Given the description of an element on the screen output the (x, y) to click on. 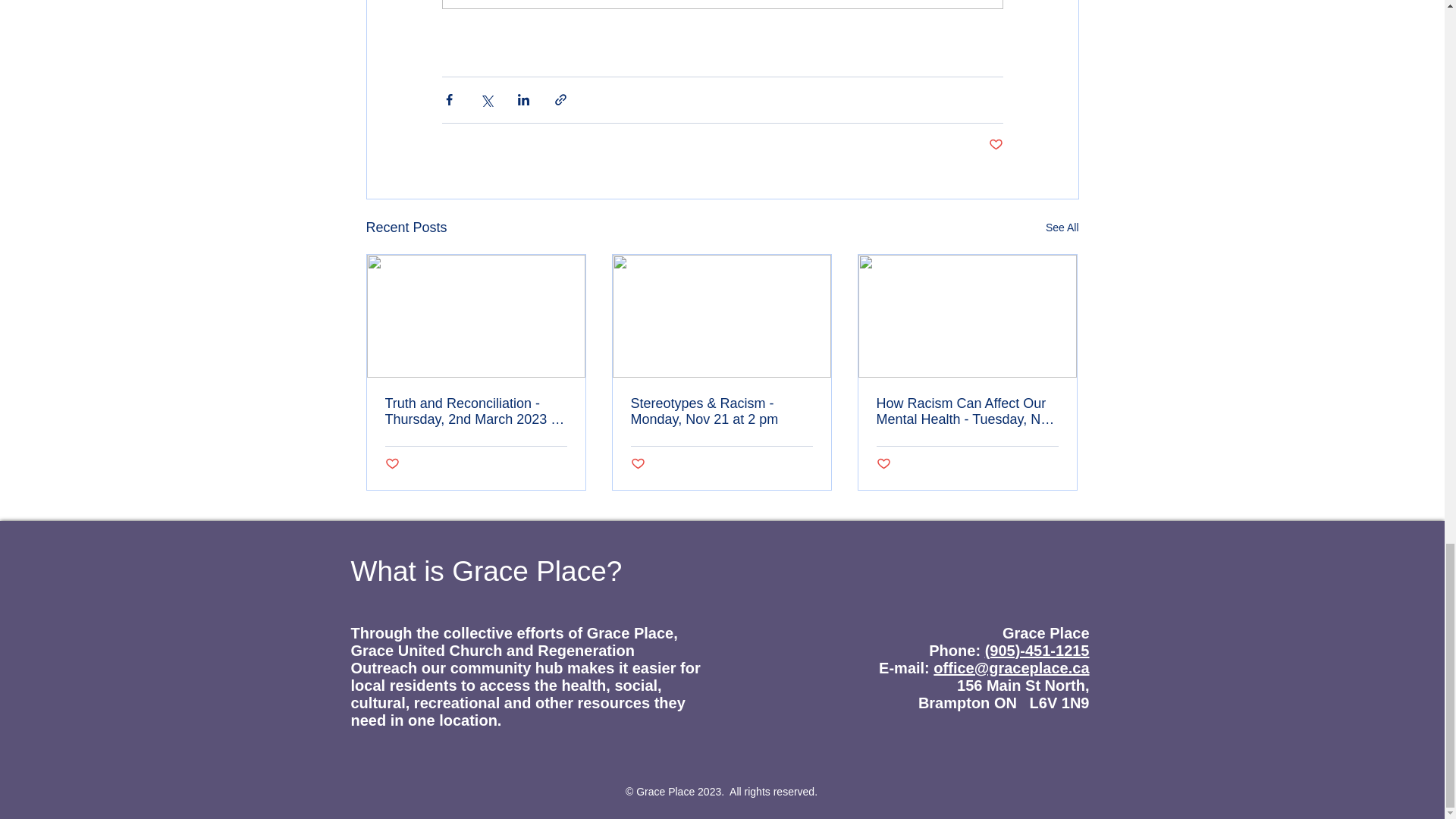
Post not marked as liked (637, 464)
Post not marked as liked (883, 464)
See All (1061, 228)
Post not marked as liked (391, 464)
Post not marked as liked (995, 145)
